Given the description of an element on the screen output the (x, y) to click on. 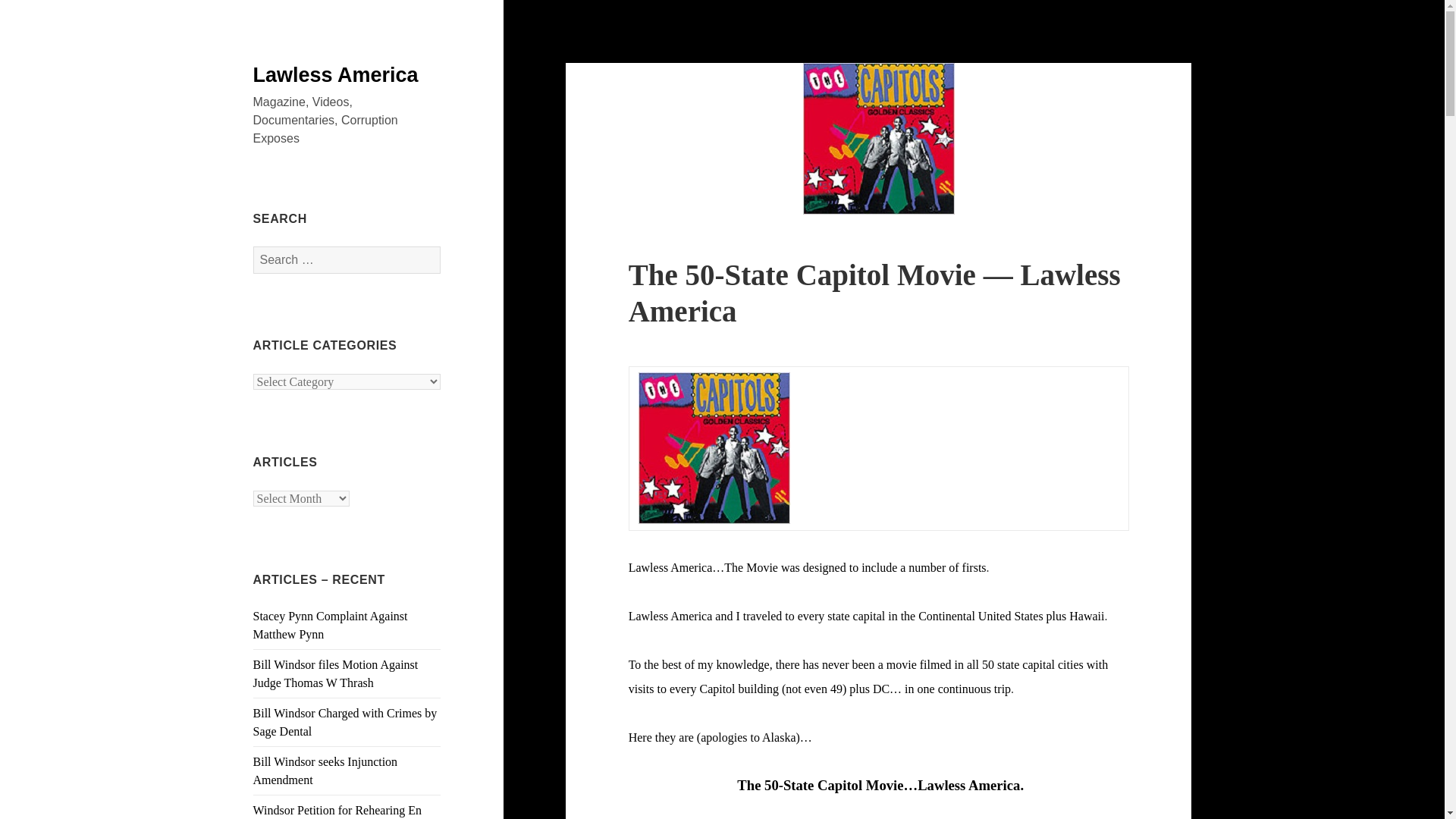
Bill Windsor seeks Injunction Amendment (325, 770)
Bill Windsor Charged with Crimes by Sage Dental (345, 721)
Lawless America (336, 74)
Bill Windsor files Motion Against Judge Thomas W Thrash (336, 673)
Windsor Petition for Rehearing En Banc (337, 811)
Stacey Pynn Complaint Against Matthew Pynn (330, 624)
